Given the description of an element on the screen output the (x, y) to click on. 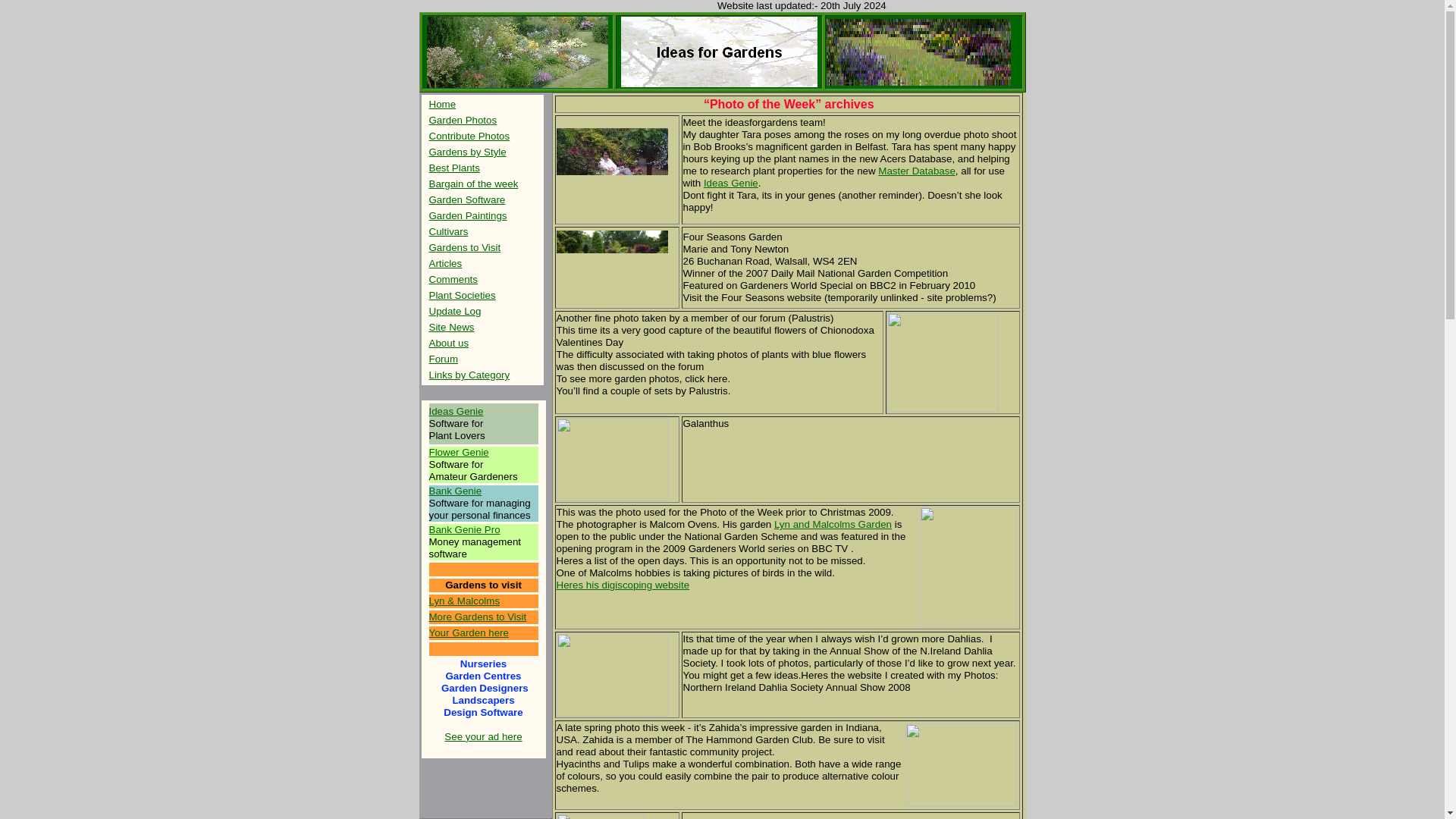
Links by Category (470, 374)
Comments (453, 279)
Articles (446, 263)
Gardens by Style (467, 152)
Garden Software (467, 199)
Site News (451, 326)
Update Log (455, 310)
Ideas Genie (730, 183)
Gardens to Visit (464, 247)
Best Plants (454, 167)
Bargain of the week (473, 183)
Lyn and Malcolms Garden (832, 523)
Flower Genie (459, 451)
Bank Genie (455, 490)
Plant Societies (462, 295)
